Given the description of an element on the screen output the (x, y) to click on. 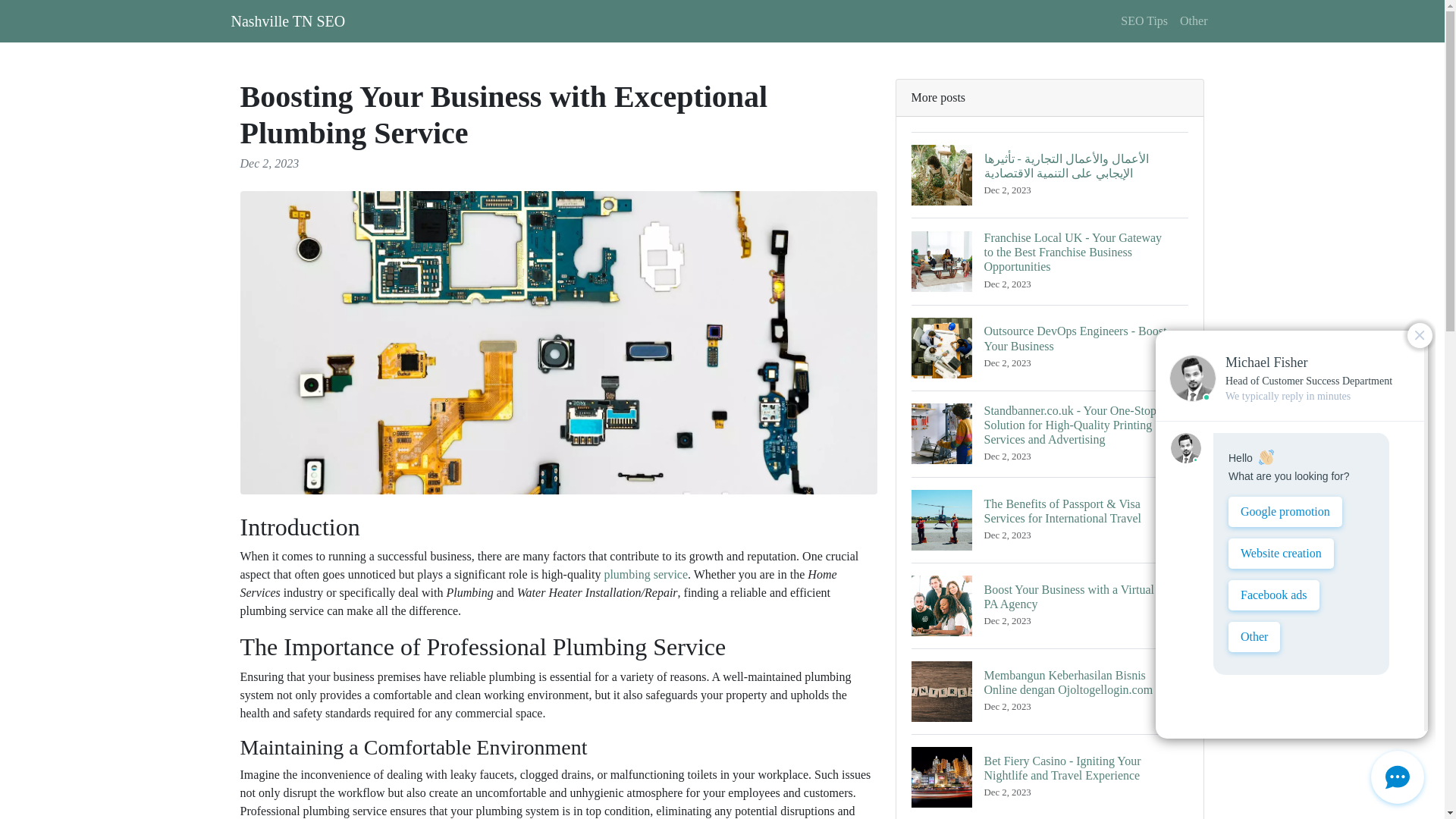
plumbing service (645, 574)
Other (1192, 20)
SEO Tips (1144, 20)
Nashville TN SEO (287, 20)
